Given the description of an element on the screen output the (x, y) to click on. 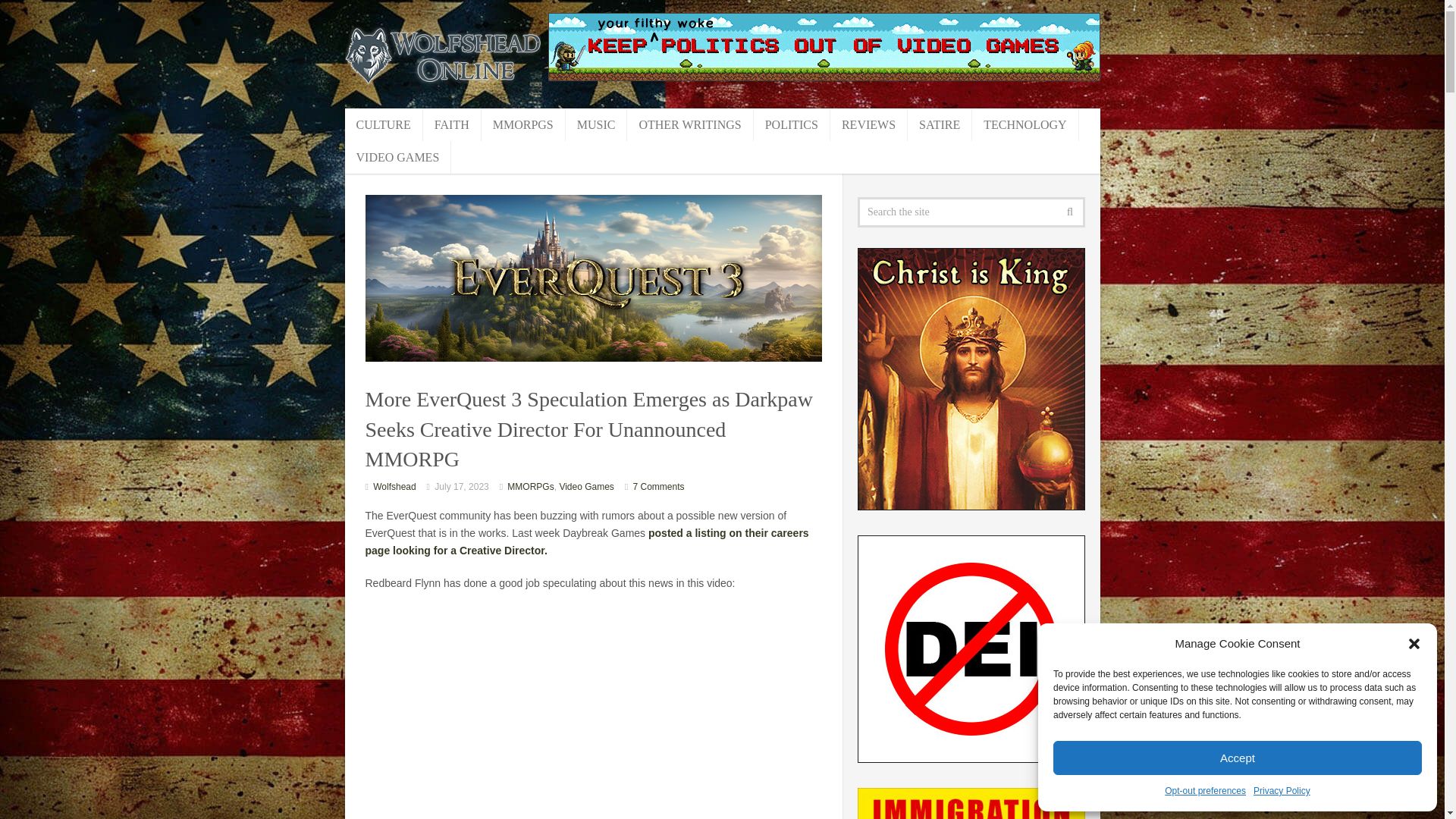
TECHNOLOGY (1025, 124)
Accept (1237, 757)
REVIEWS (868, 124)
SATIRE (939, 124)
Posts by Wolfshead (393, 486)
View all posts in MMORPGs (529, 486)
CULTURE (382, 124)
FAITH (452, 124)
View all posts in Video Games (586, 486)
Privacy Policy (1281, 791)
MMORPGs (529, 486)
7 Comments (657, 486)
Opt-out preferences (1205, 791)
Wolfshead (393, 486)
MUSIC (596, 124)
